Given the description of an element on the screen output the (x, y) to click on. 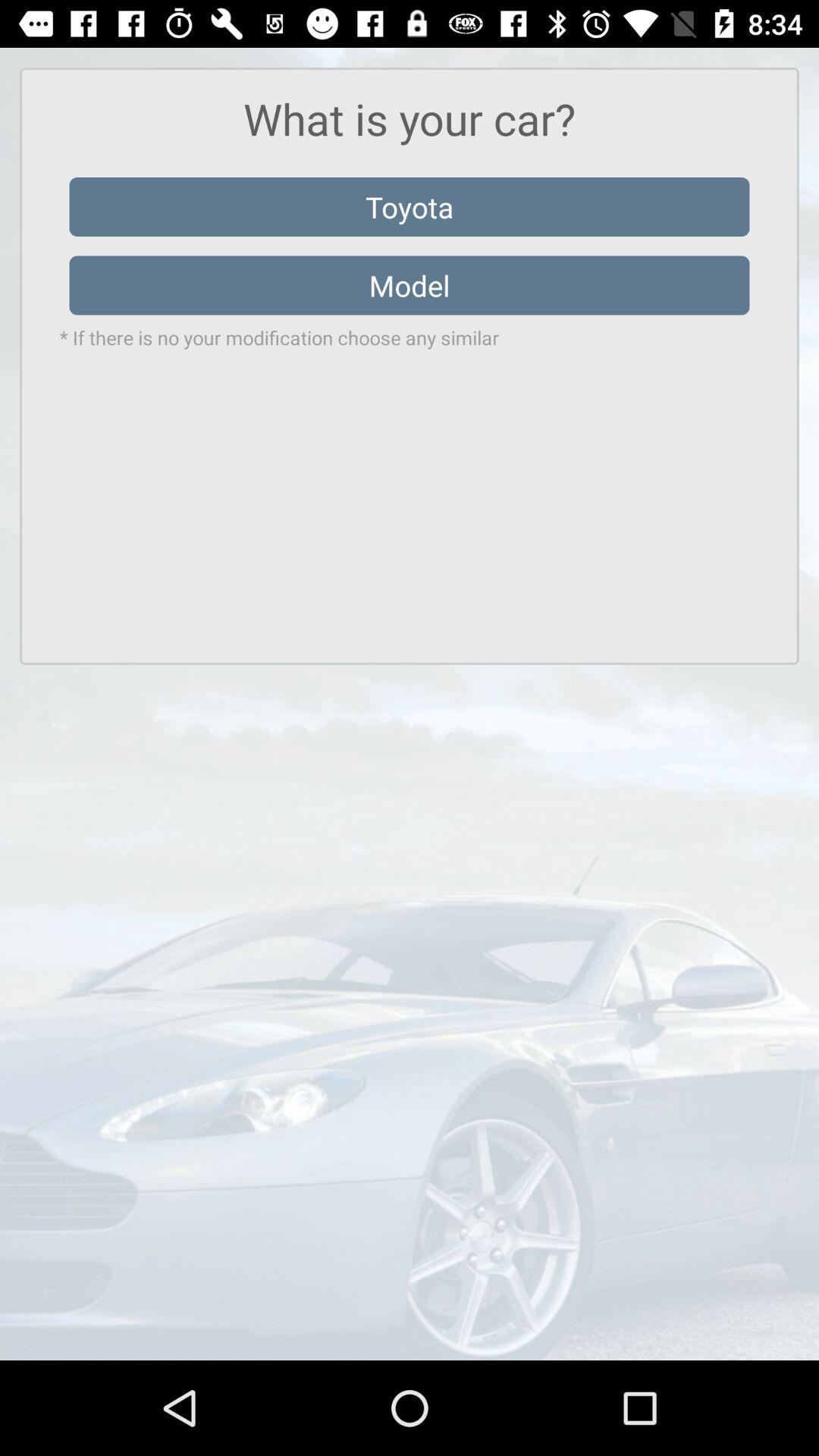
turn off the model icon (409, 285)
